Given the description of an element on the screen output the (x, y) to click on. 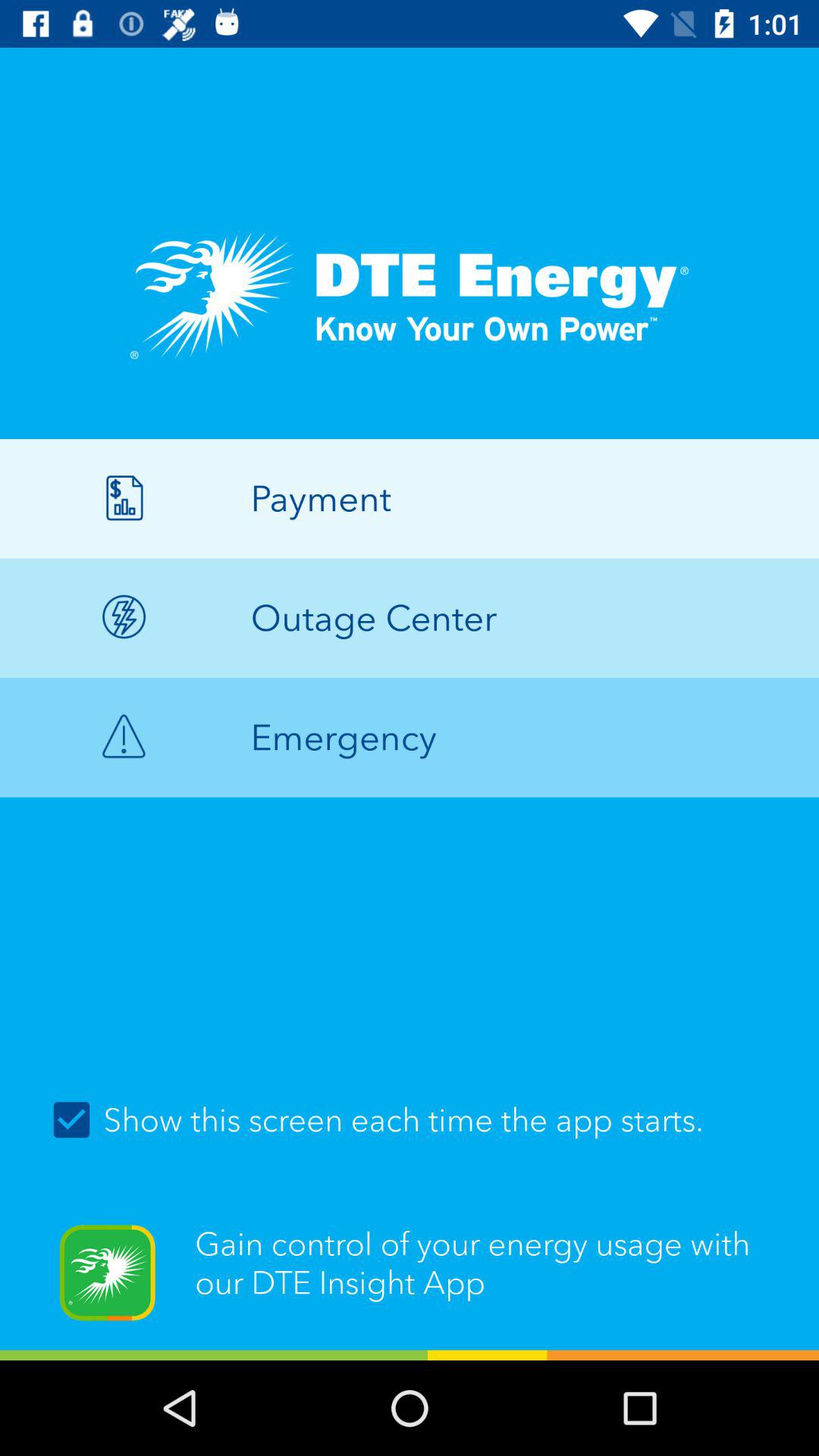
select outage center (409, 617)
